Given the description of an element on the screen output the (x, y) to click on. 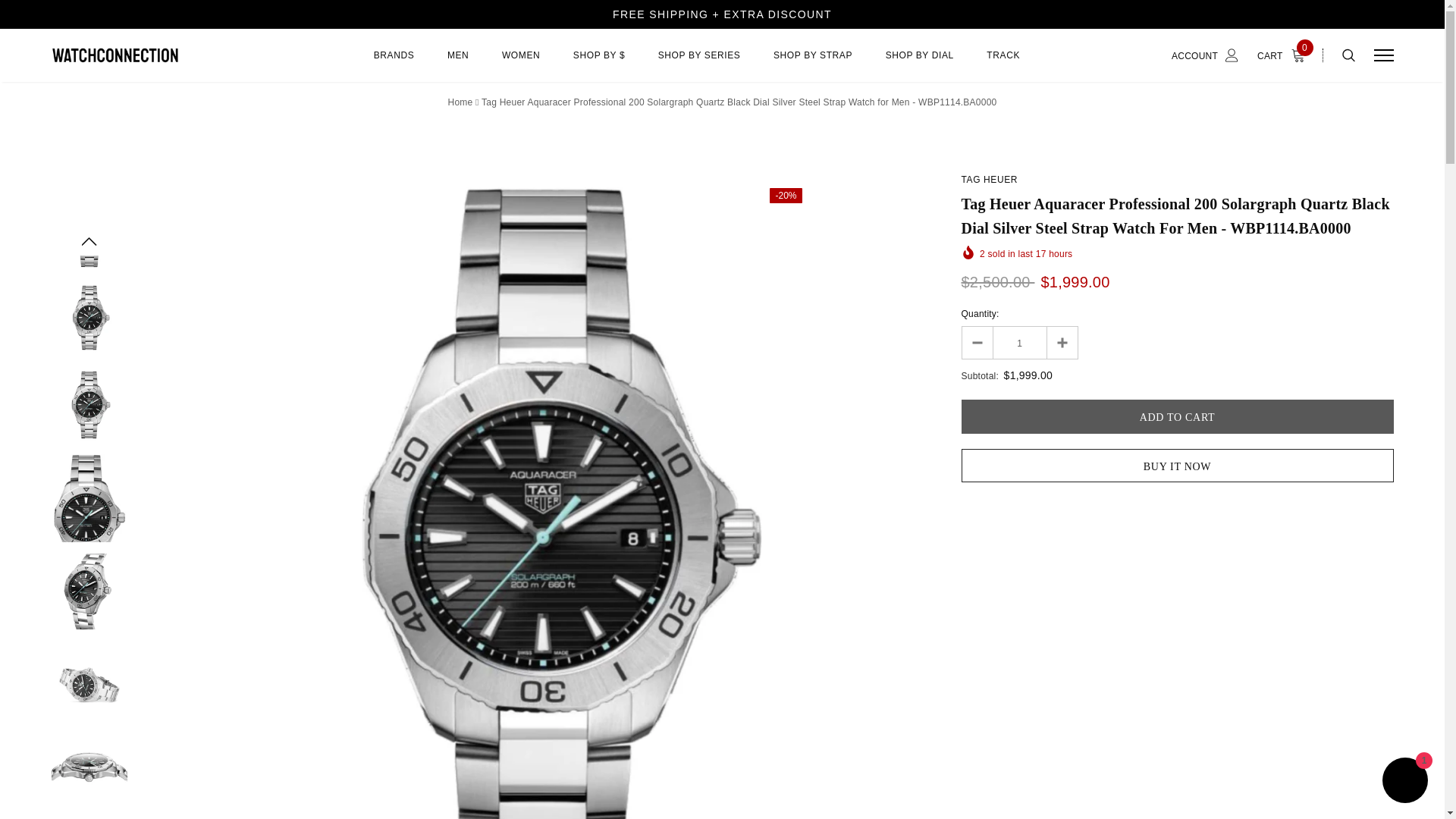
Right Menu (1383, 54)
BRANDS (394, 63)
Add to Cart (1176, 416)
Logo (167, 54)
1 (1019, 342)
Cart (1285, 54)
